Given the description of an element on the screen output the (x, y) to click on. 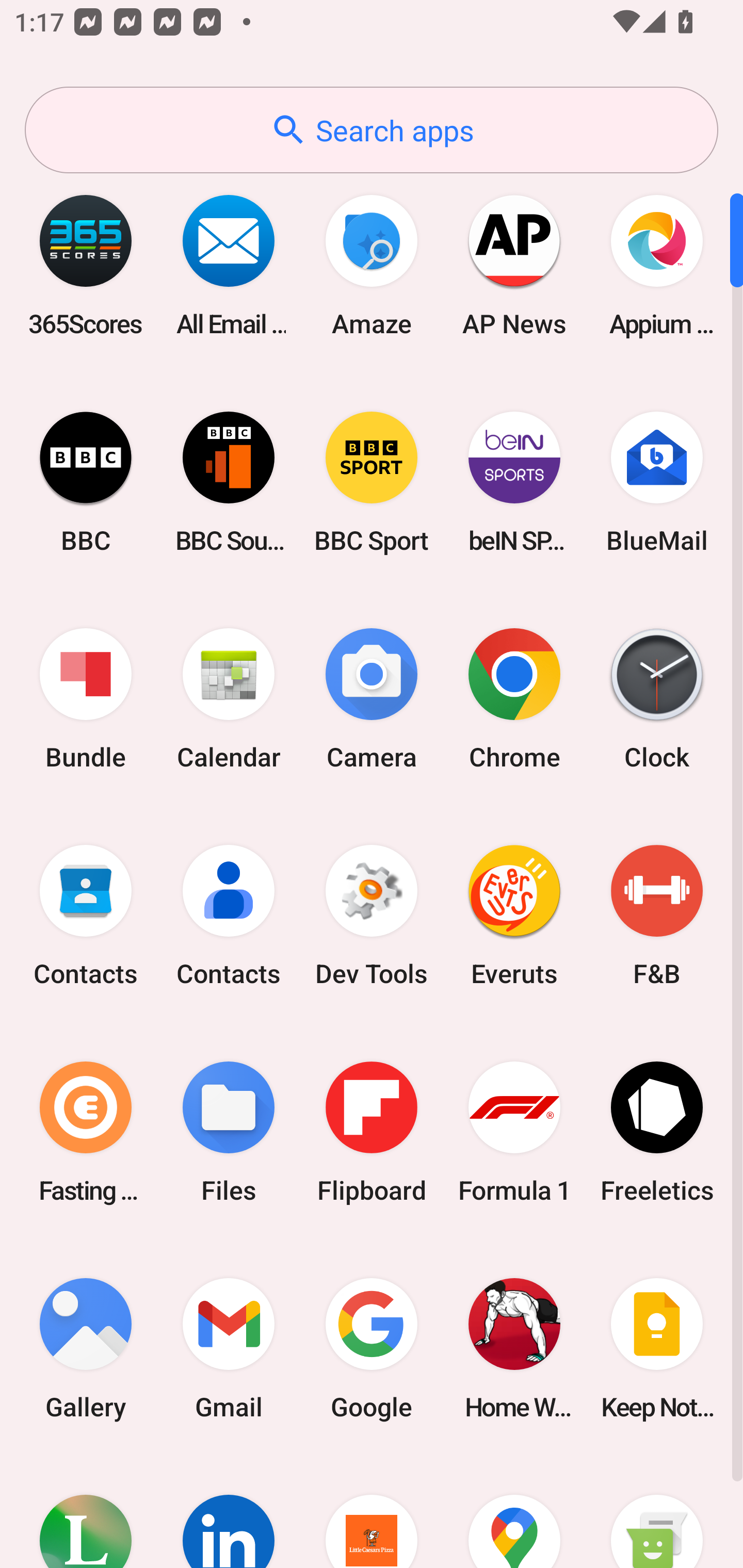
  Search apps (371, 130)
365Scores (85, 264)
All Email Connect (228, 264)
Amaze (371, 264)
AP News (514, 264)
Appium Settings (656, 264)
BBC (85, 482)
BBC Sounds (228, 482)
BBC Sport (371, 482)
beIN SPORTS (514, 482)
BlueMail (656, 482)
Bundle (85, 699)
Calendar (228, 699)
Camera (371, 699)
Chrome (514, 699)
Clock (656, 699)
Contacts (85, 915)
Contacts (228, 915)
Dev Tools (371, 915)
Everuts (514, 915)
F&B (656, 915)
Fasting Coach (85, 1131)
Files (228, 1131)
Flipboard (371, 1131)
Formula 1 (514, 1131)
Freeletics (656, 1131)
Gallery (85, 1348)
Gmail (228, 1348)
Google (371, 1348)
Home Workout (514, 1348)
Keep Notes (656, 1348)
Lifesum (85, 1512)
LinkedIn (228, 1512)
Little Caesars Pizza (371, 1512)
Maps (514, 1512)
Messaging (656, 1512)
